Given the description of an element on the screen output the (x, y) to click on. 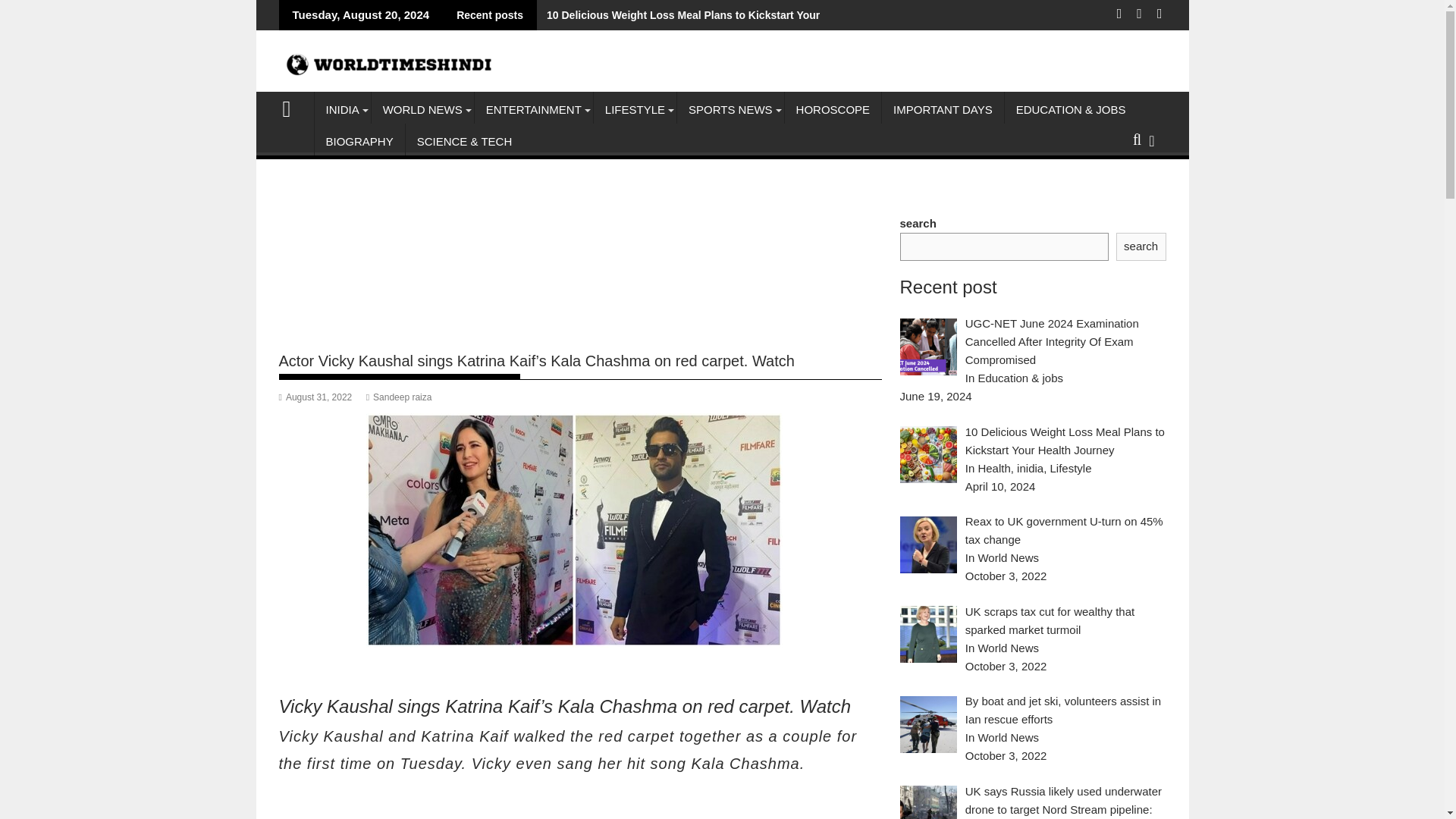
SPORTS NEWS (730, 109)
LIFESTYLE (635, 109)
WORLD NEWS (422, 109)
BIOGRAPHY (359, 141)
worldtimeshindi (293, 106)
ENTERTAINMENT (533, 109)
Advertisement (580, 804)
INIDIA (341, 109)
IMPORTANT DAYS (943, 109)
